Given the description of an element on the screen output the (x, y) to click on. 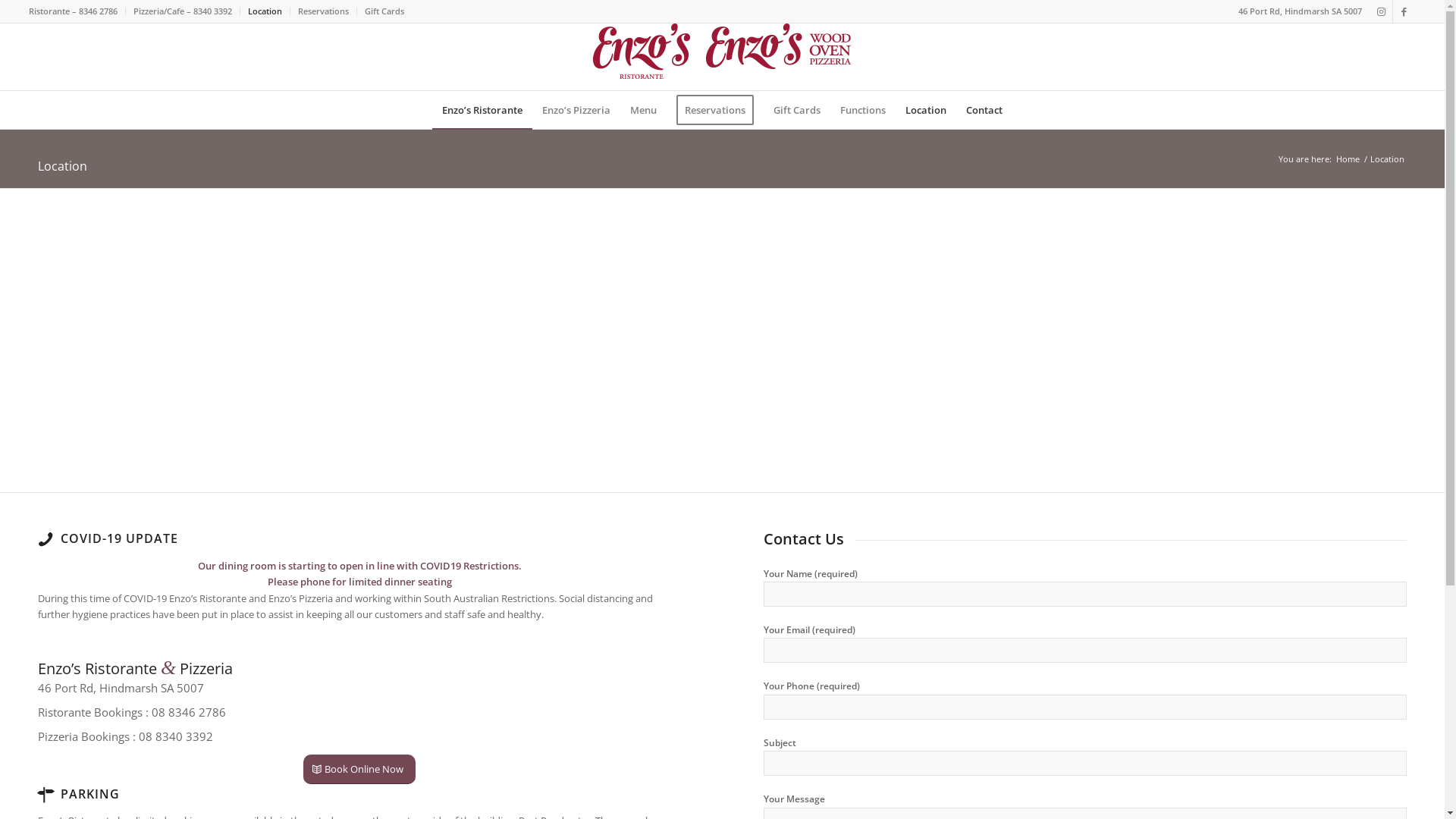
Location Element type: text (264, 10)
Gift Cards Element type: text (384, 10)
Menu Element type: text (643, 109)
Contact Element type: text (984, 109)
Instagram Element type: hover (1381, 11)
Functions Element type: text (862, 109)
Home Element type: text (1347, 158)
Location Element type: text (62, 165)
Facebook Element type: hover (1404, 11)
Reservations Element type: text (323, 10)
Gift Cards Element type: text (796, 109)
Reservations Element type: text (714, 109)
Book Online Now Element type: text (359, 769)
logo4 Element type: hover (721, 50)
Location Element type: text (925, 109)
